Given the description of an element on the screen output the (x, y) to click on. 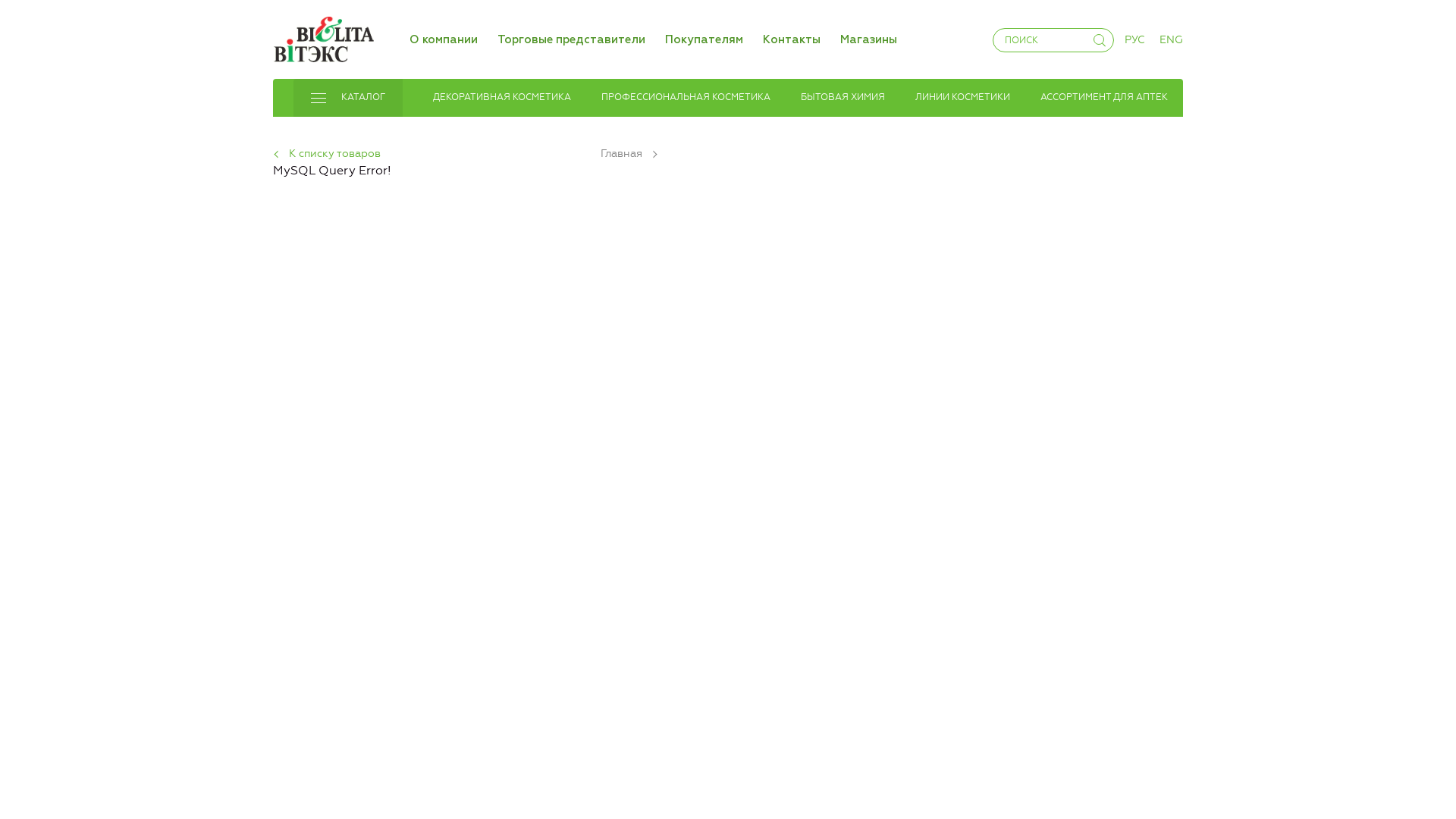
Belita&Vitex Element type: hover (323, 38)
Belita&Vitex Element type: hover (323, 36)
ENG Element type: text (1171, 39)
